Given the description of an element on the screen output the (x, y) to click on. 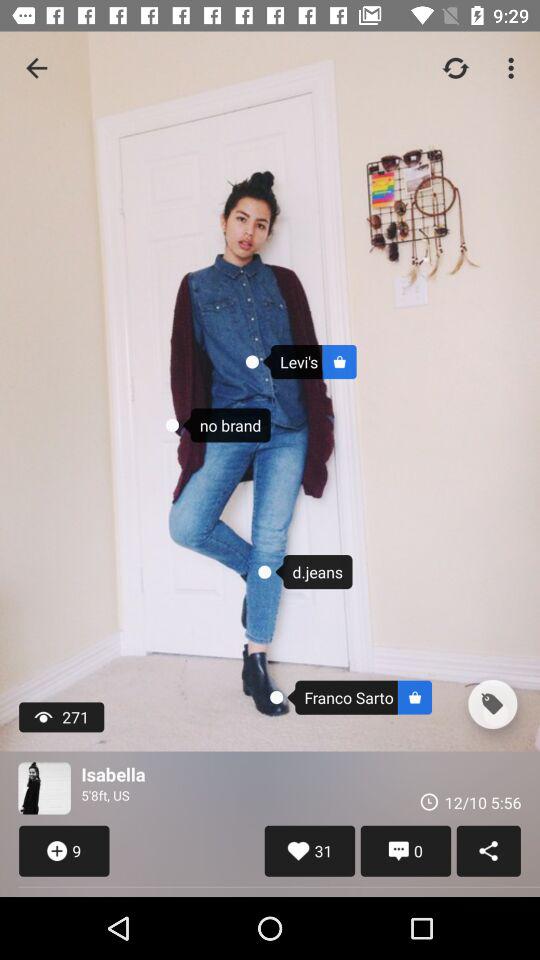
toggle tag (492, 704)
